Given the description of an element on the screen output the (x, y) to click on. 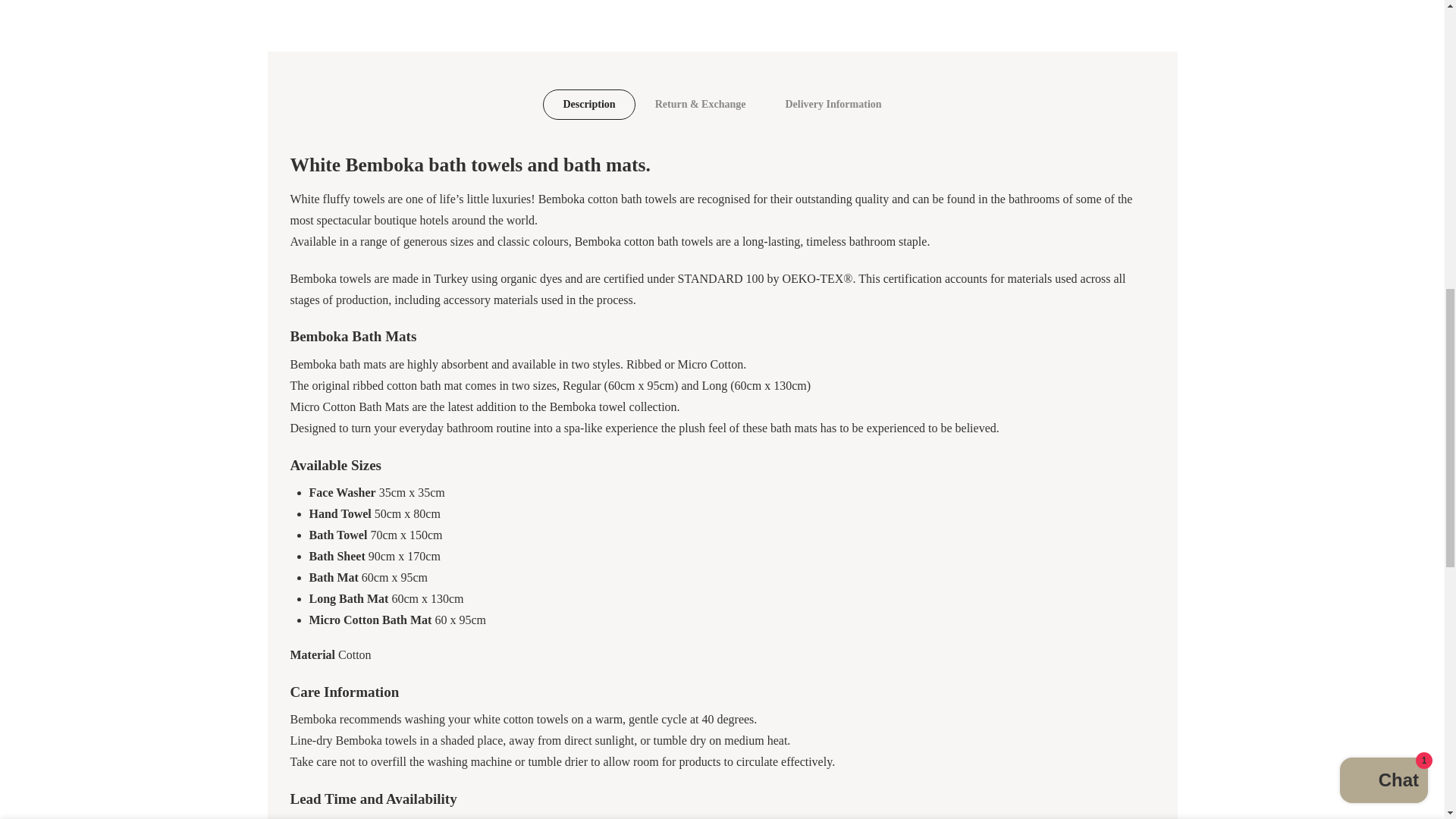
1 (1001, 35)
